Given the description of an element on the screen output the (x, y) to click on. 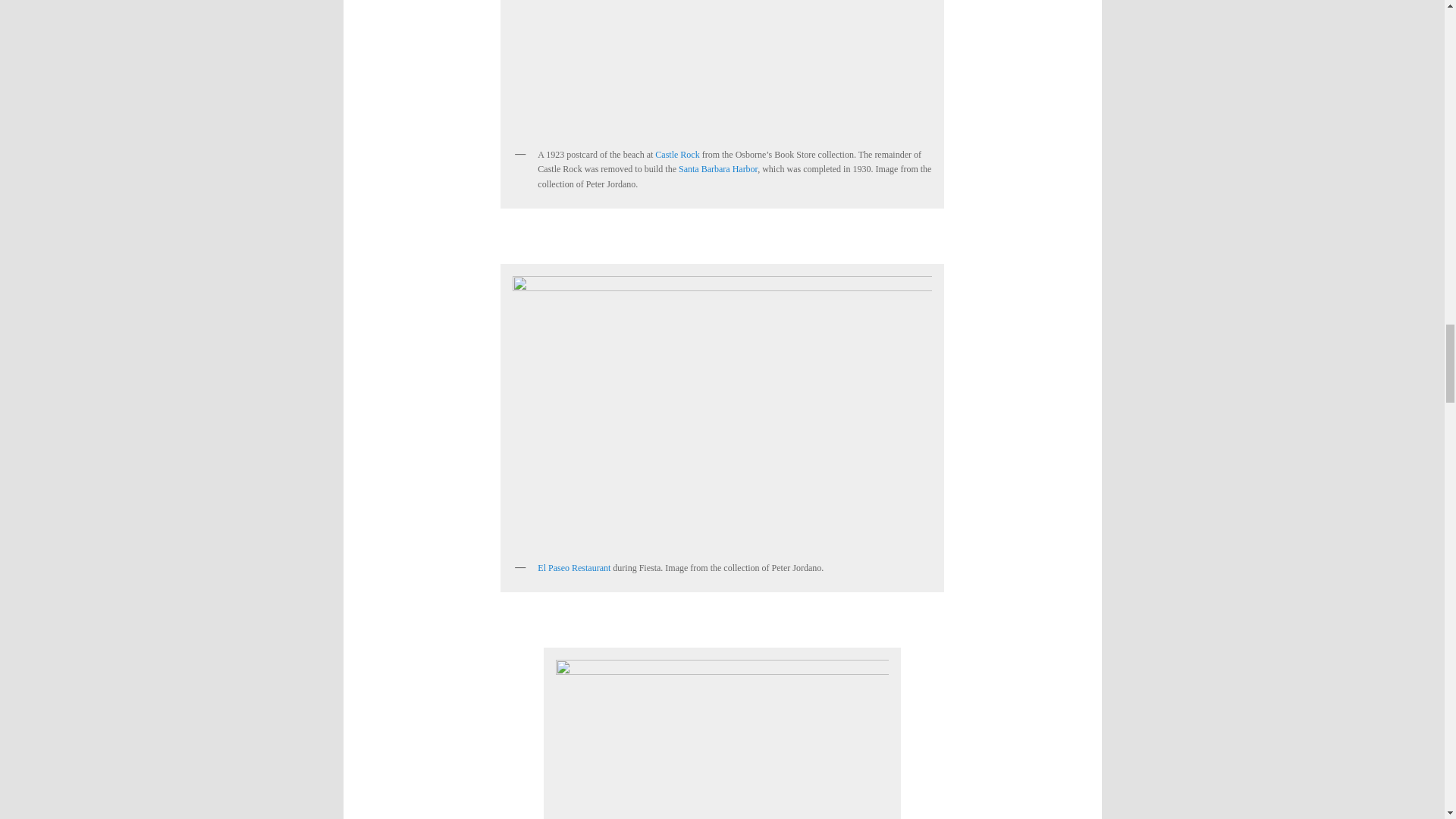
El Paseo Restaurant (573, 567)
Castle Rock (676, 154)
Santa Barbara Harbor (717, 168)
